Given the description of an element on the screen output the (x, y) to click on. 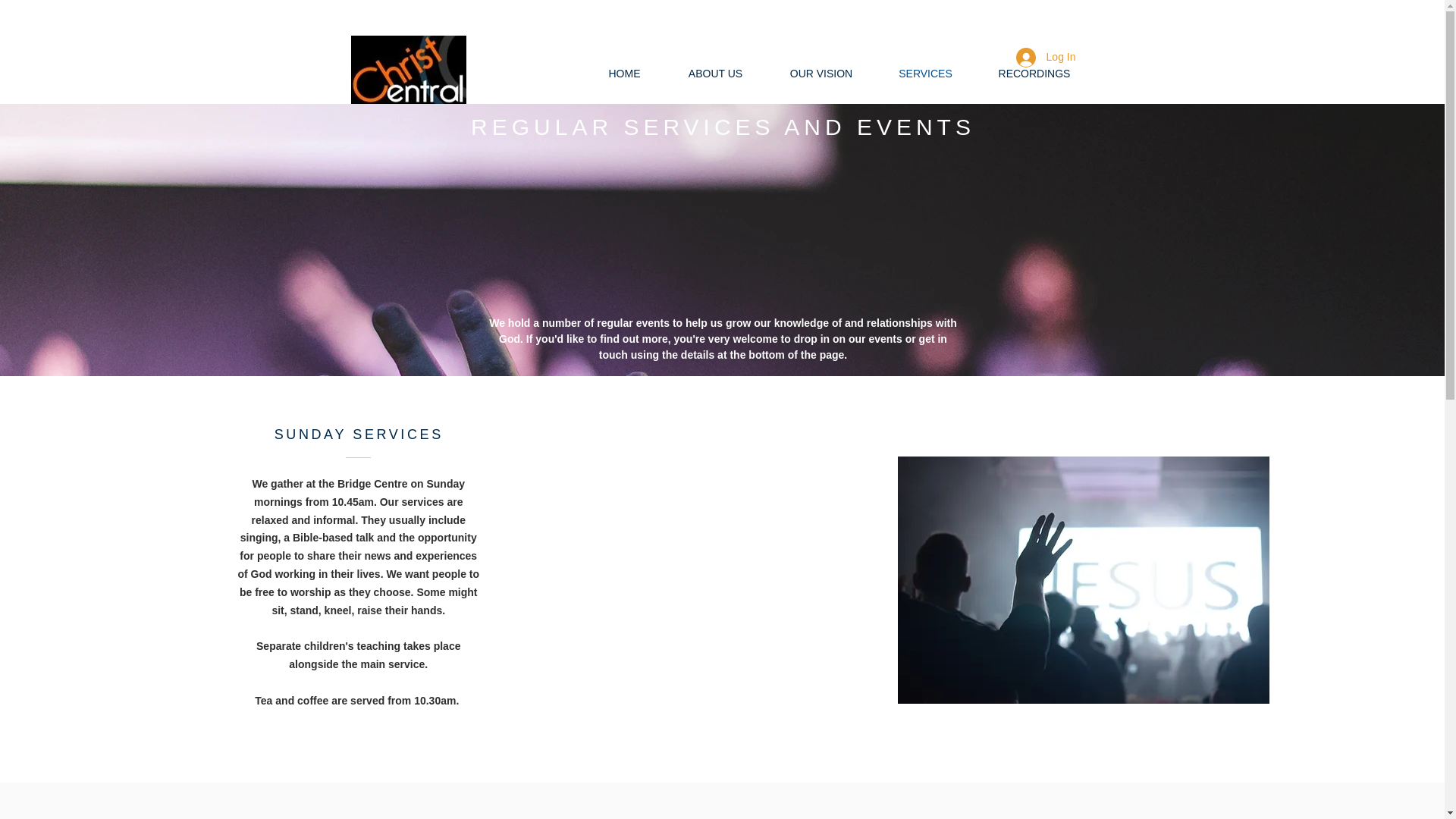
SERVICES (925, 73)
Log In (1046, 57)
Image by Carolina Jacomin (1083, 579)
HOME (623, 73)
ABOUT US (714, 73)
OUR VISION (820, 73)
RECORDINGS (1034, 73)
